Given the description of an element on the screen output the (x, y) to click on. 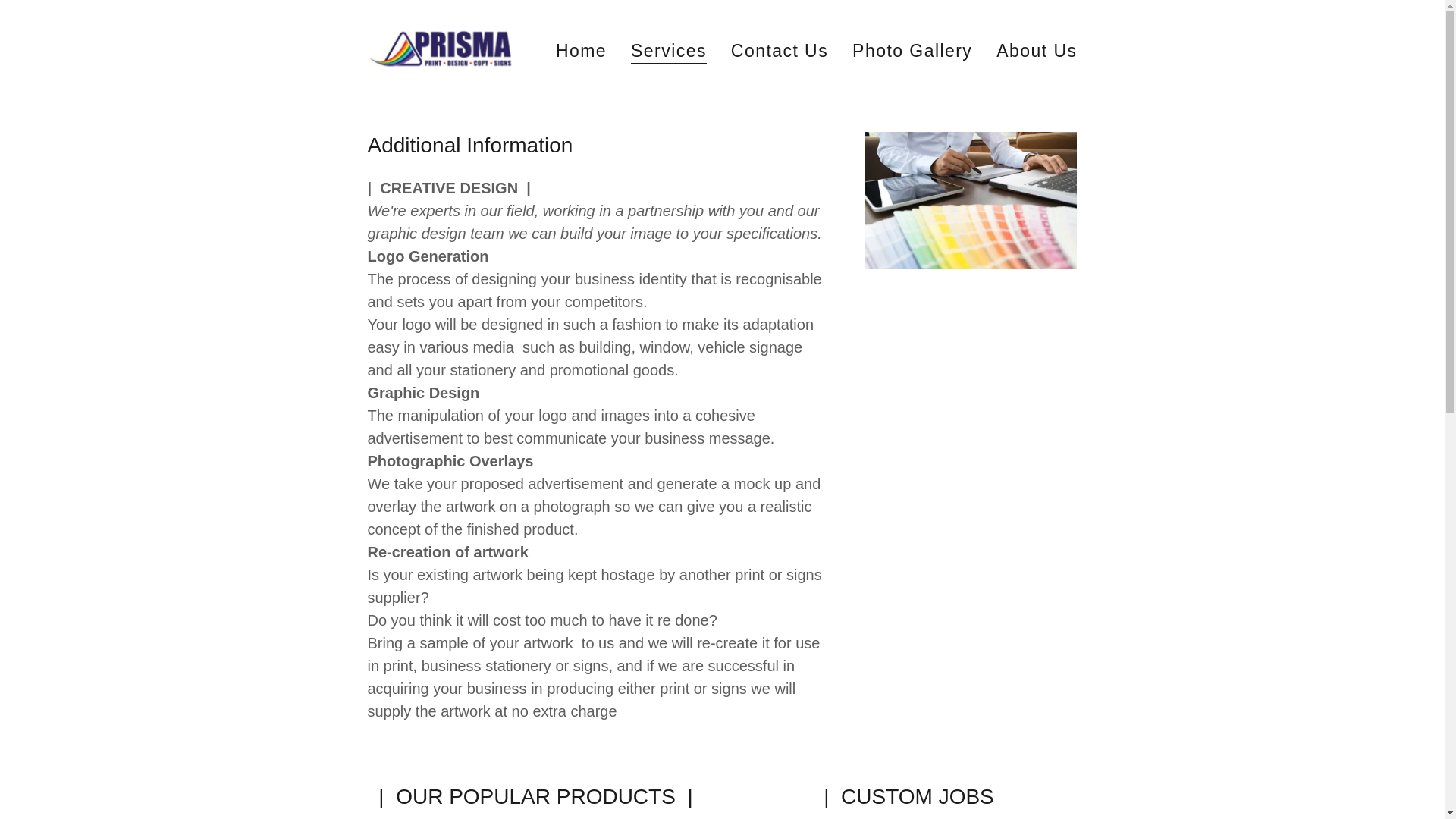
About Us (1036, 50)
Contact Us (779, 50)
Services (668, 52)
Home (581, 50)
Prisma (442, 48)
Photo Gallery (911, 50)
